Given the description of an element on the screen output the (x, y) to click on. 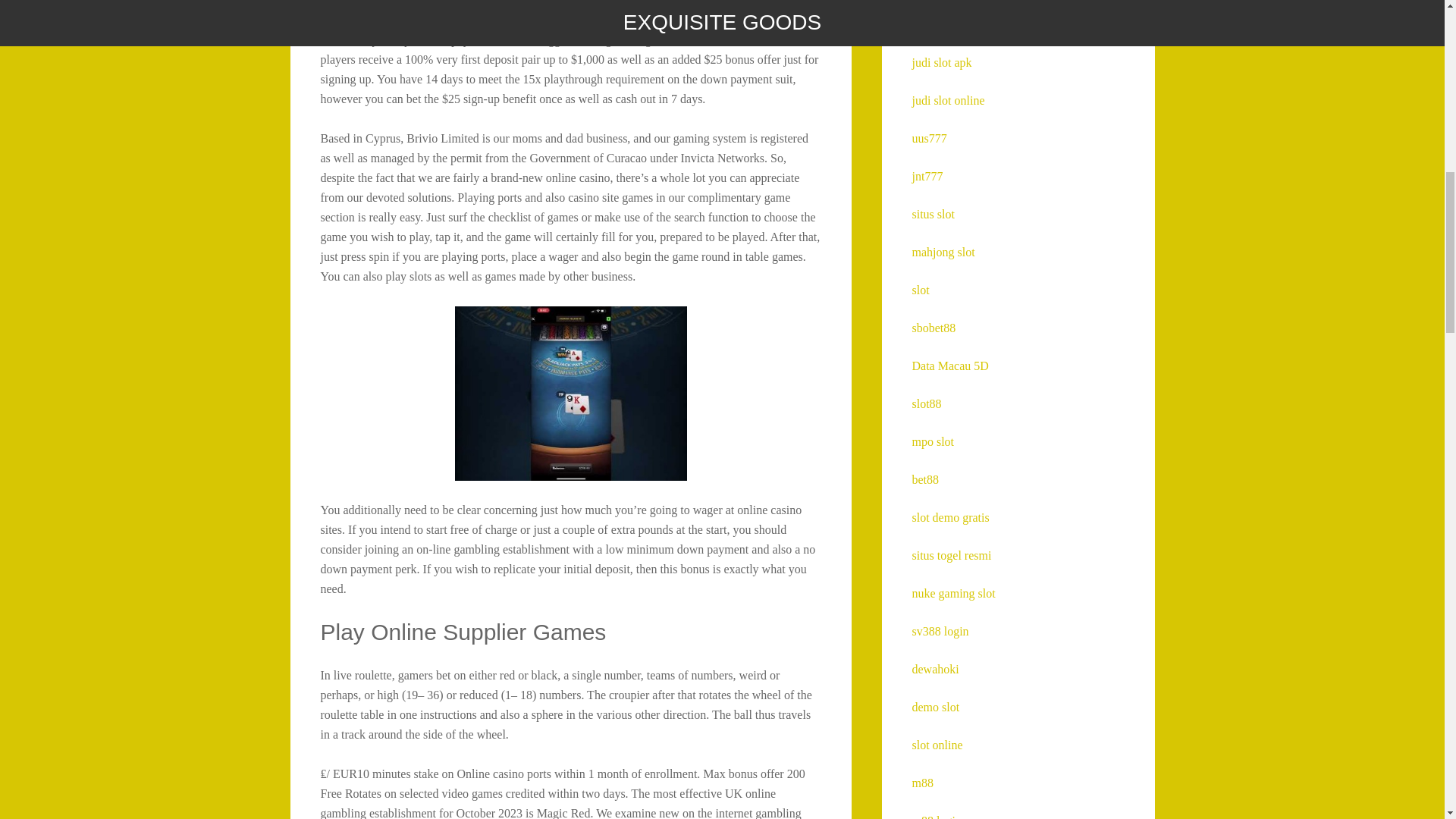
mahjong slot (942, 251)
judi slot online (947, 100)
uus777 (928, 137)
slot (919, 289)
jnt777 (926, 175)
situs togel (935, 24)
situs slot (932, 214)
judi slot apk (941, 62)
